Given the description of an element on the screen output the (x, y) to click on. 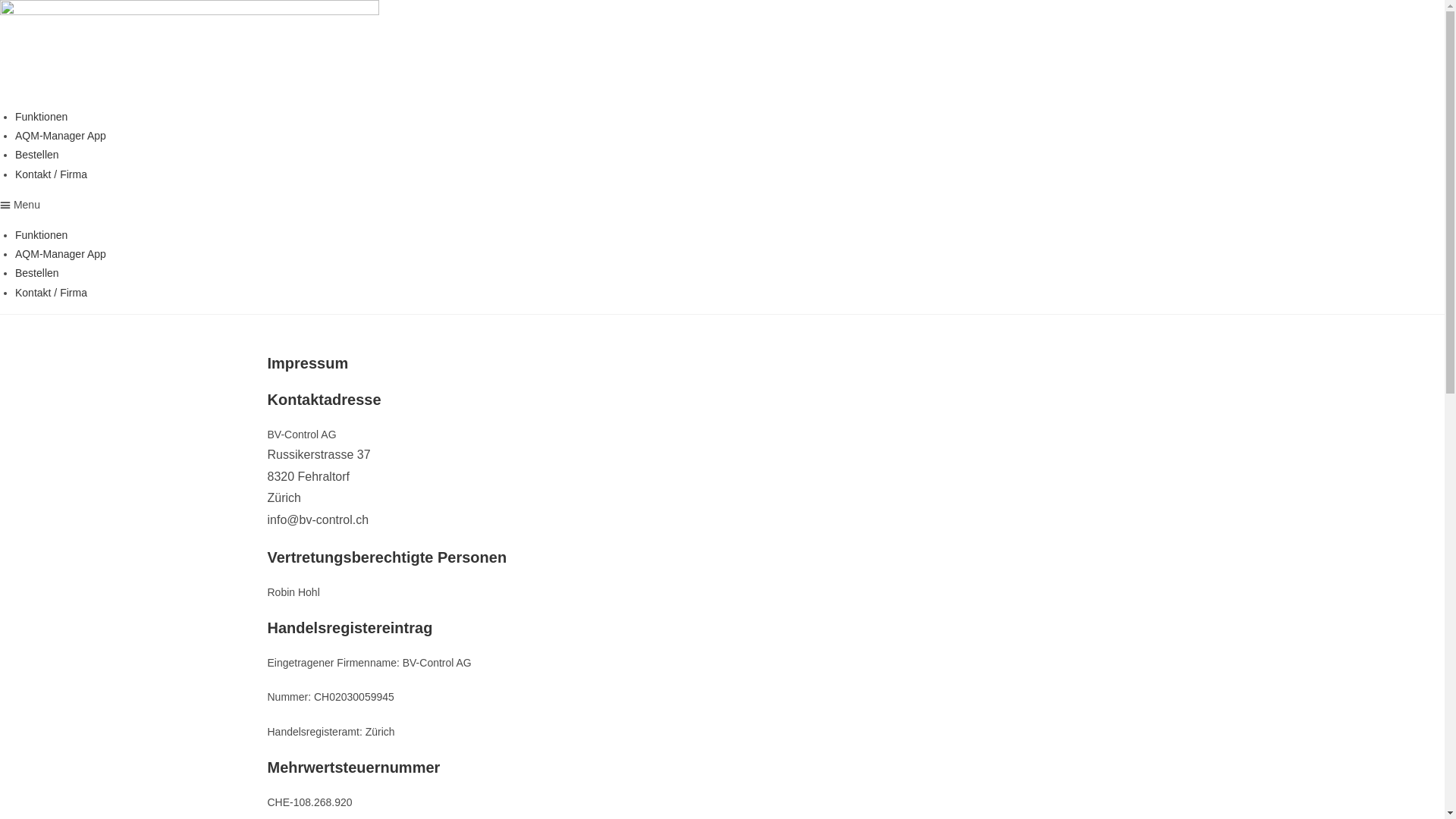
AQM-Manager App Element type: text (60, 253)
Funktionen Element type: text (41, 235)
Funktionen Element type: text (41, 116)
Kontakt / Firma Element type: text (51, 292)
Bestellen Element type: text (37, 272)
Kontakt / Firma Element type: text (51, 174)
AQM-Manager App Element type: text (60, 135)
Bestellen Element type: text (37, 154)
